Given the description of an element on the screen output the (x, y) to click on. 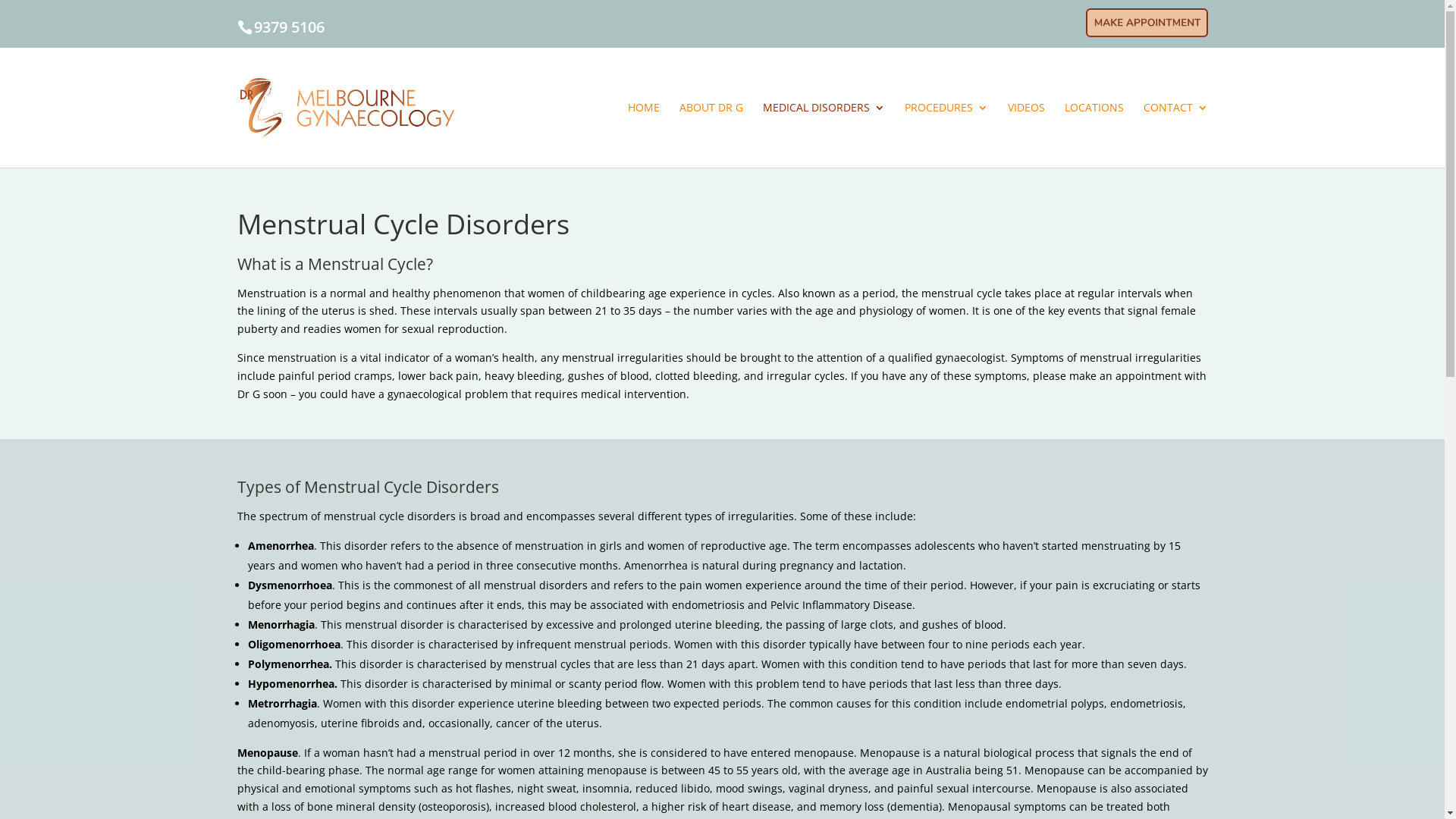
ABOUT DR G Element type: text (711, 134)
MEDICAL DISORDERS Element type: text (823, 134)
LOCATIONS Element type: text (1093, 134)
PROCEDURES Element type: text (945, 134)
VIDEOS Element type: text (1025, 134)
HOME Element type: text (643, 134)
CONTACT Element type: text (1175, 134)
